Given the description of an element on the screen output the (x, y) to click on. 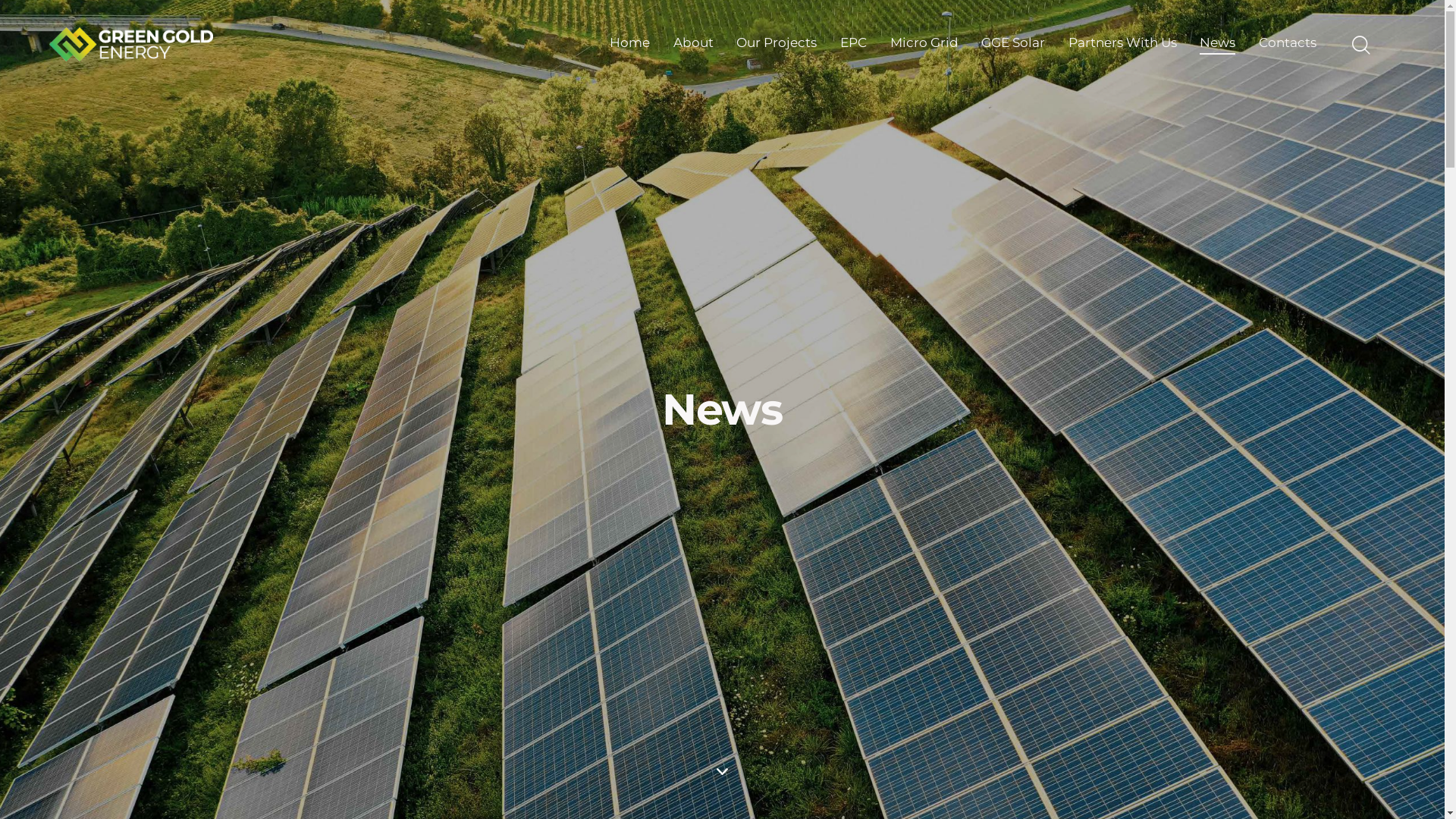
Partners With Us Element type: text (1122, 43)
EPC Element type: text (853, 43)
Contacts Element type: text (1287, 43)
News Element type: text (1217, 43)
GGE Solar Element type: text (1013, 43)
Our Projects Element type: text (776, 43)
About Element type: text (692, 43)
Home Element type: text (630, 43)
Micro Grid Element type: text (923, 43)
